Given the description of an element on the screen output the (x, y) to click on. 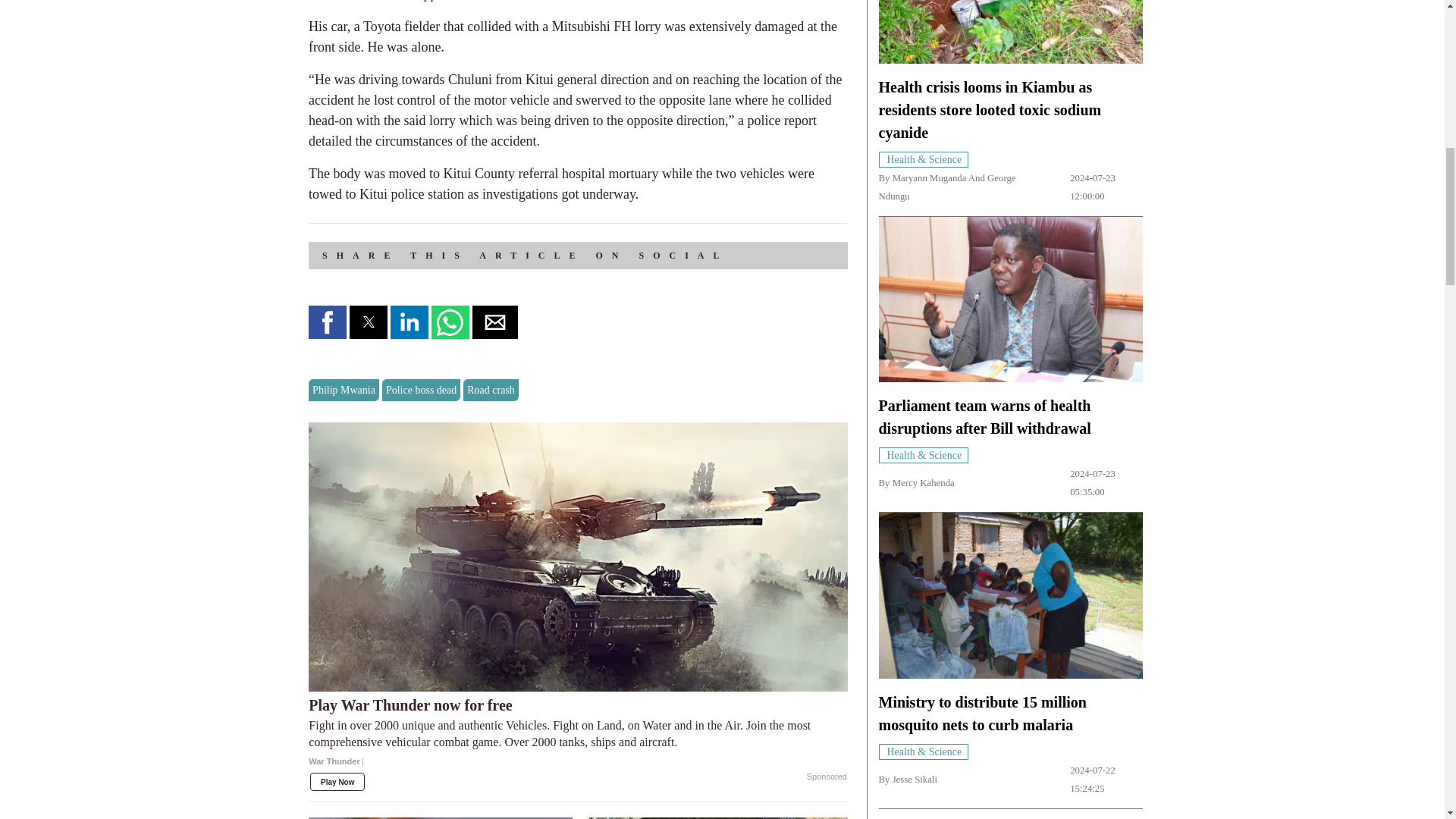
Mercy Kahenda (923, 482)
Police boss dead (420, 390)
Road crash (490, 390)
Jesse Sikali (914, 778)
Philip Mwania (343, 390)
Maryann Muganda And George Ndungu (945, 186)
